Given the description of an element on the screen output the (x, y) to click on. 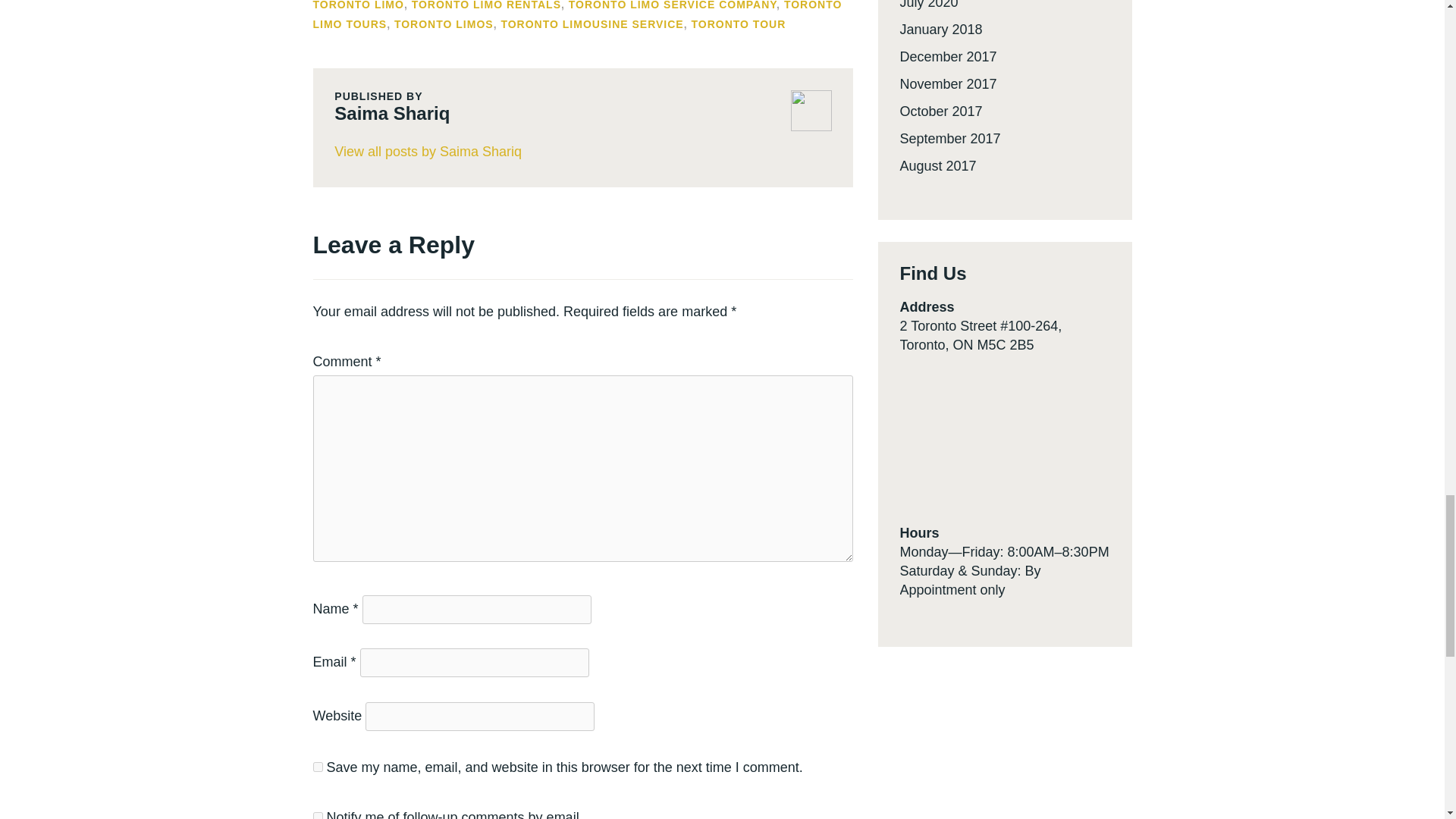
yes (317, 767)
TORONTO LIMO TOURS (577, 15)
View all posts by Saima Shariq (582, 152)
TORONTO TOUR (738, 24)
TORONTO LIMO (358, 5)
TORONTO LIMO RENTALS (486, 5)
TORONTO LIMOS (443, 24)
TORONTO LIMOUSINE SERVICE (591, 24)
TORONTO LIMO SERVICE COMPANY (672, 5)
subscribe (317, 815)
